Given the description of an element on the screen output the (x, y) to click on. 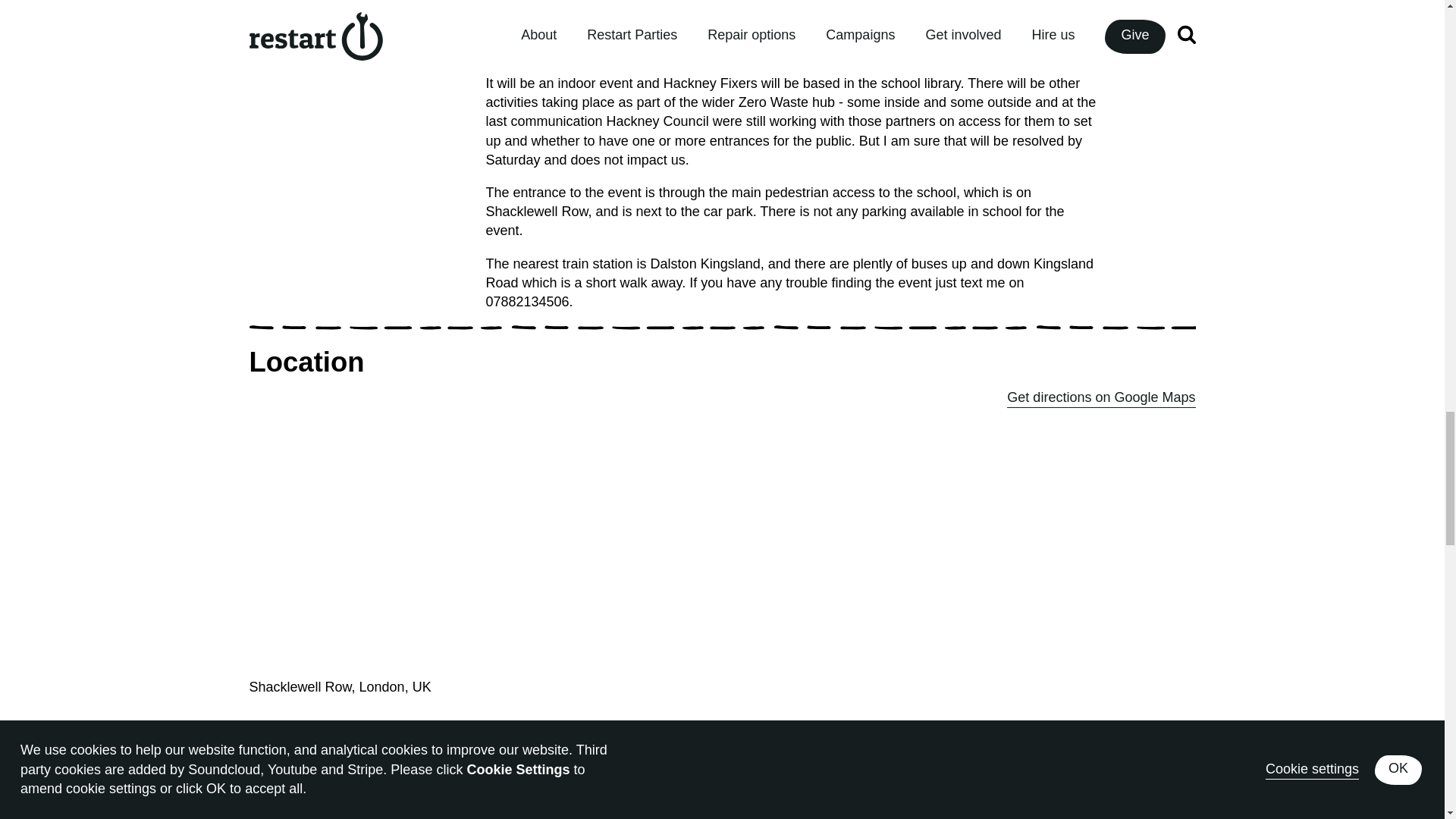
Get directions on Google Maps (1101, 397)
